Given the description of an element on the screen output the (x, y) to click on. 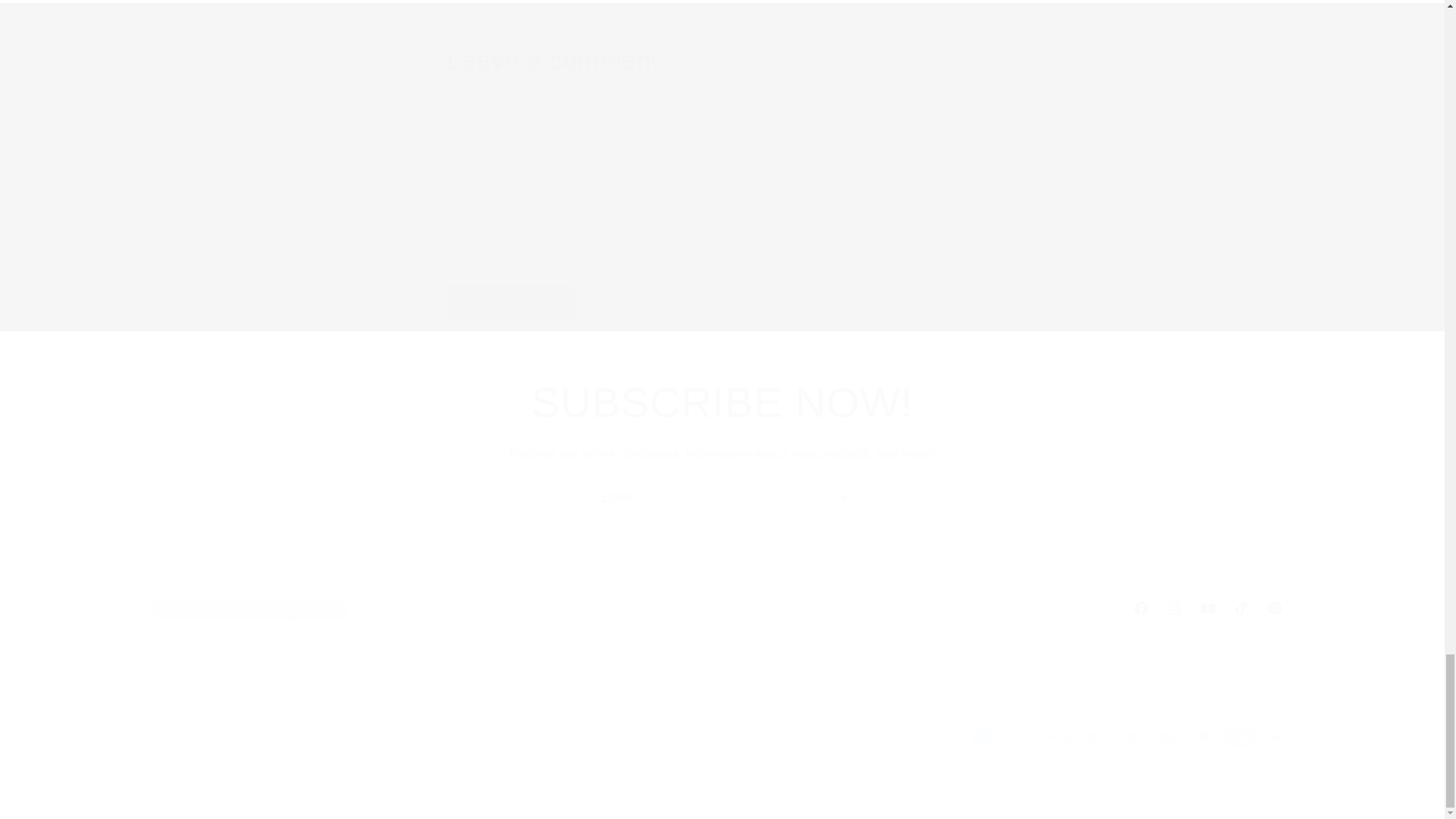
Post comment (510, 301)
Post comment (510, 301)
Email (722, 497)
SUBSCRIBE NOW! (721, 607)
